Given the description of an element on the screen output the (x, y) to click on. 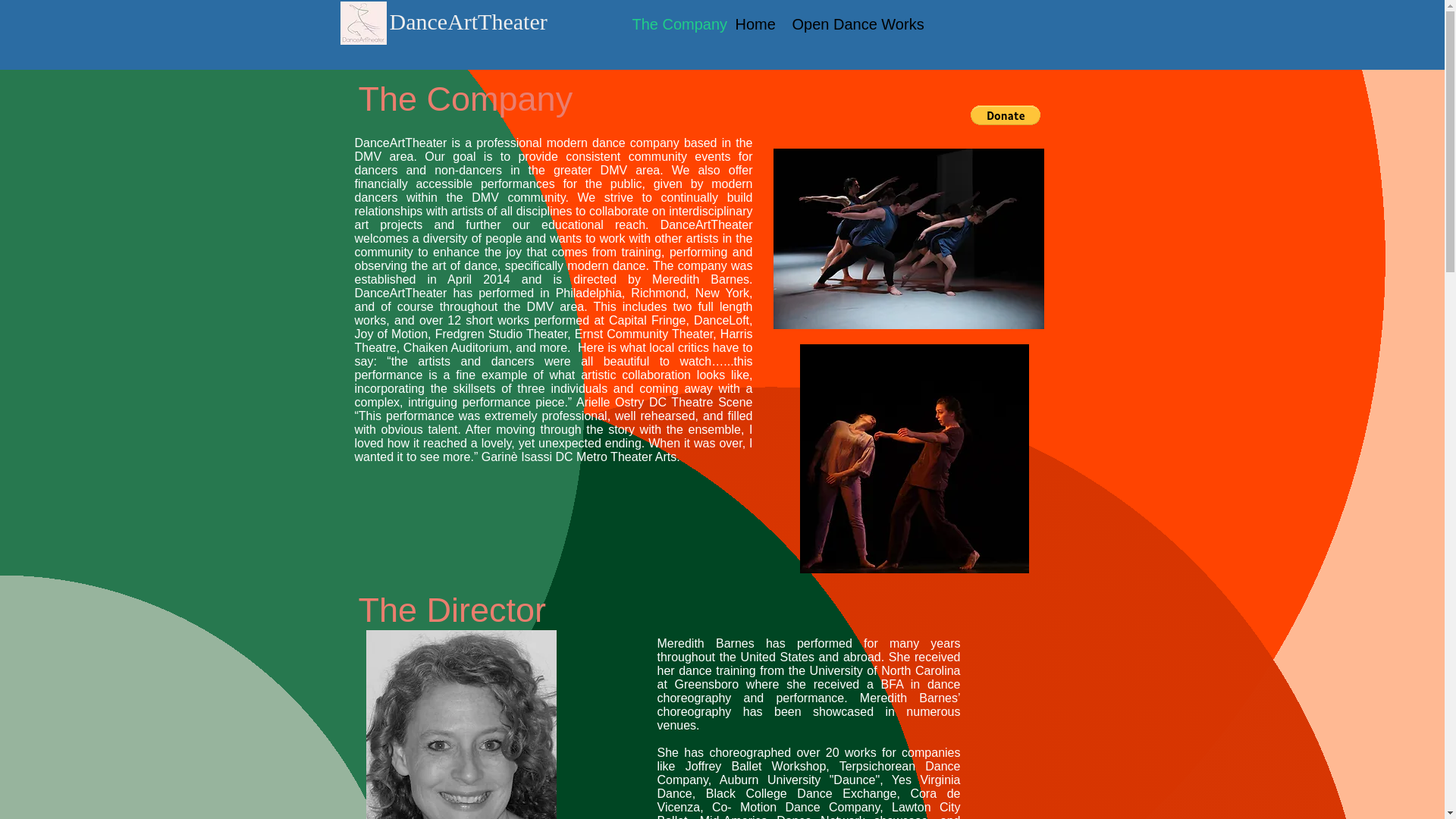
DanceArtTheater (468, 23)
Open Dance Works (849, 24)
Home (751, 24)
The Company (671, 24)
